Given the description of an element on the screen output the (x, y) to click on. 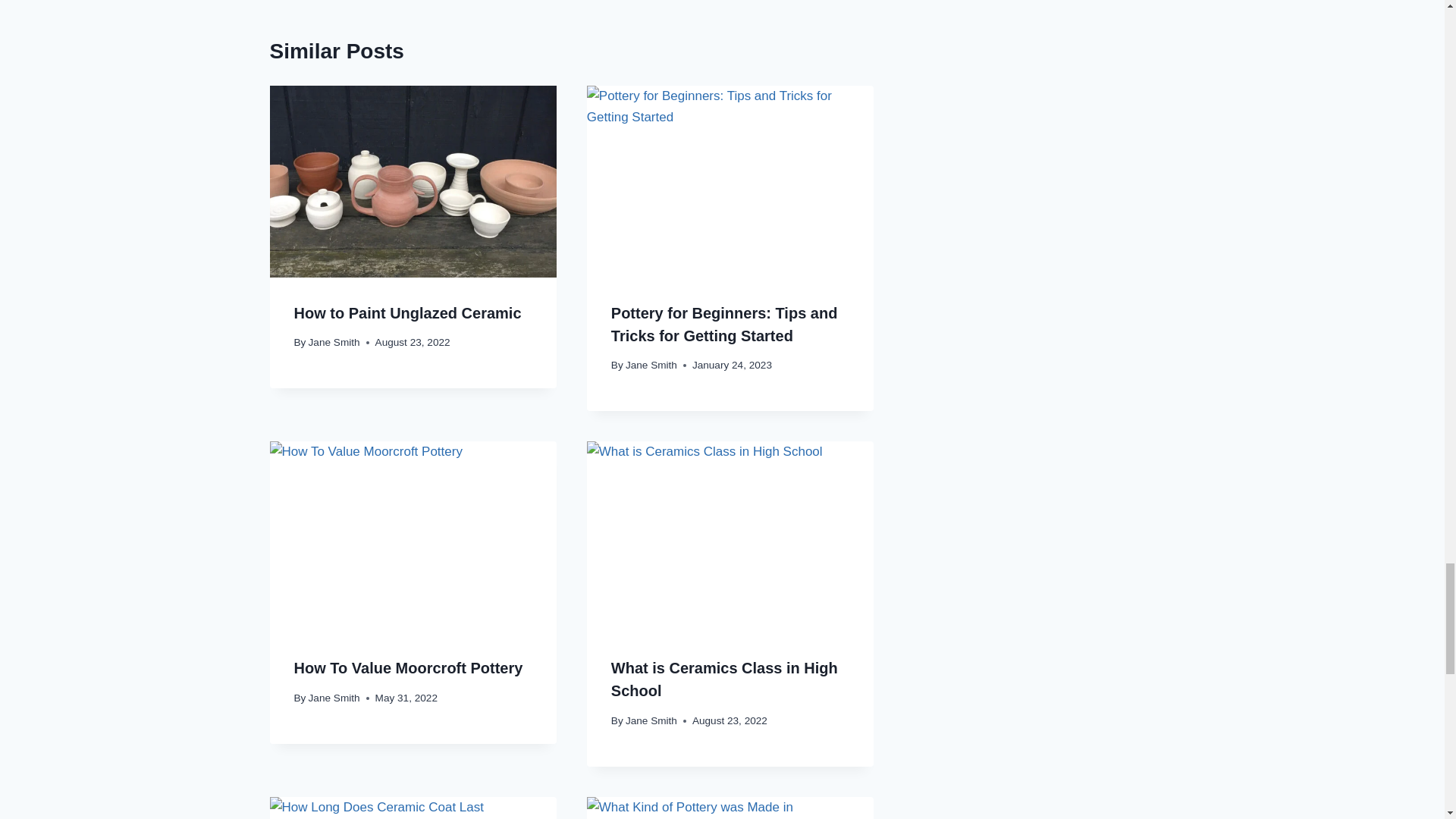
Jane Smith (651, 365)
What is Ceramics Class in High School (724, 679)
Jane Smith (333, 342)
Jane Smith (651, 720)
Pottery for Beginners: Tips and Tricks for Getting Started (724, 323)
How to Paint Unglazed Ceramic (407, 312)
How To Value Moorcroft Pottery (408, 668)
Jane Smith (333, 697)
